Given the description of an element on the screen output the (x, y) to click on. 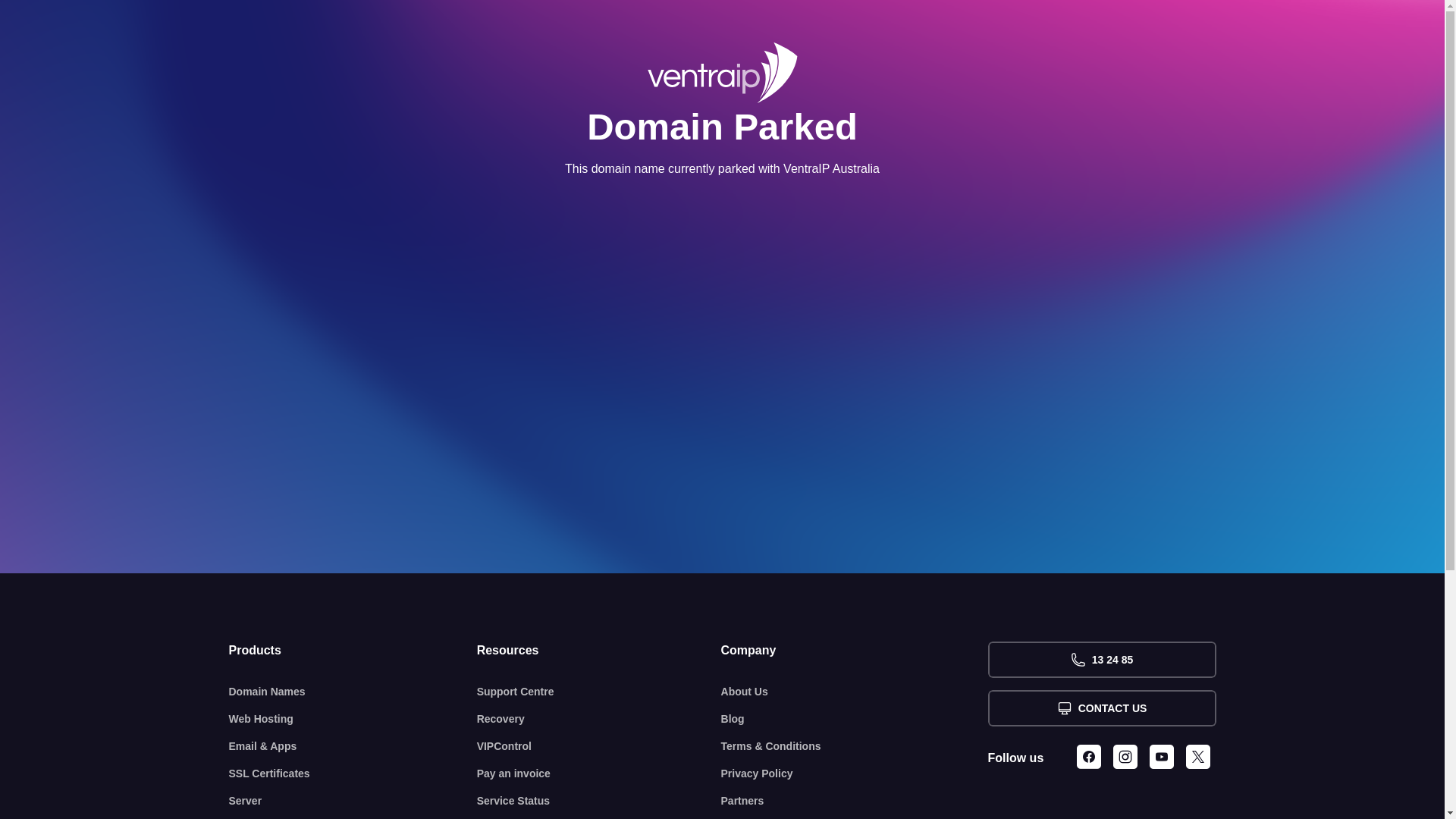
VIPControl Element type: text (598, 745)
Service Status Element type: text (598, 800)
Support Centre Element type: text (598, 691)
Recovery Element type: text (598, 718)
Blog Element type: text (854, 718)
About Us Element type: text (854, 691)
Web Hosting Element type: text (352, 718)
SSL Certificates Element type: text (352, 773)
Domain Names Element type: text (352, 691)
Server Element type: text (352, 800)
Privacy Policy Element type: text (854, 773)
Partners Element type: text (854, 800)
Email & Apps Element type: text (352, 745)
Terms & Conditions Element type: text (854, 745)
13 24 85 Element type: text (1101, 659)
CONTACT US Element type: text (1101, 708)
Pay an invoice Element type: text (598, 773)
